Given the description of an element on the screen output the (x, y) to click on. 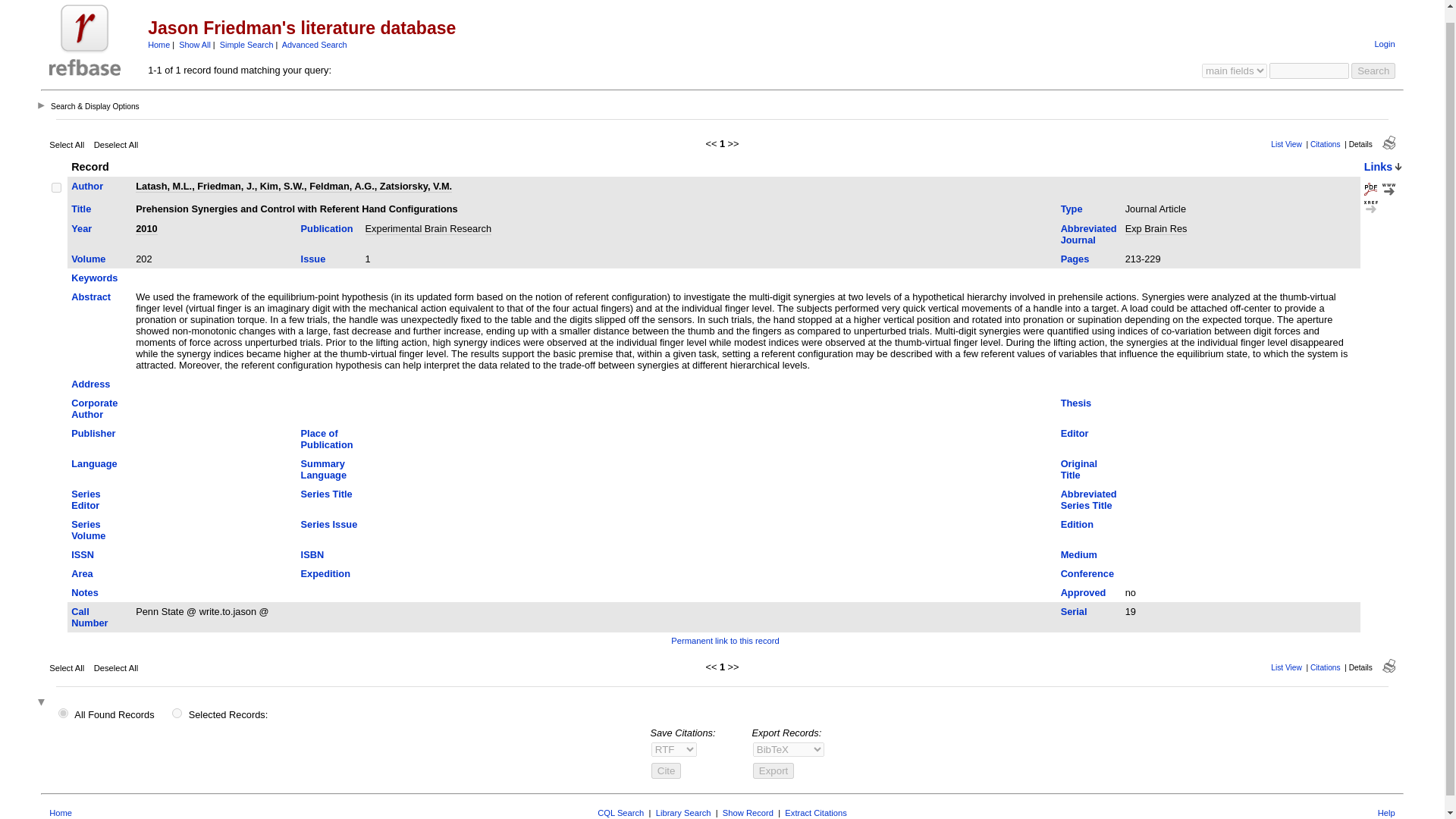
19 (55, 187)
Type (1072, 208)
Select All (66, 144)
Show All (195, 44)
Citations (1325, 144)
Links (1378, 166)
2010 (146, 228)
Exp Brain Res (1156, 228)
Home (159, 44)
Volume (87, 258)
